Given the description of an element on the screen output the (x, y) to click on. 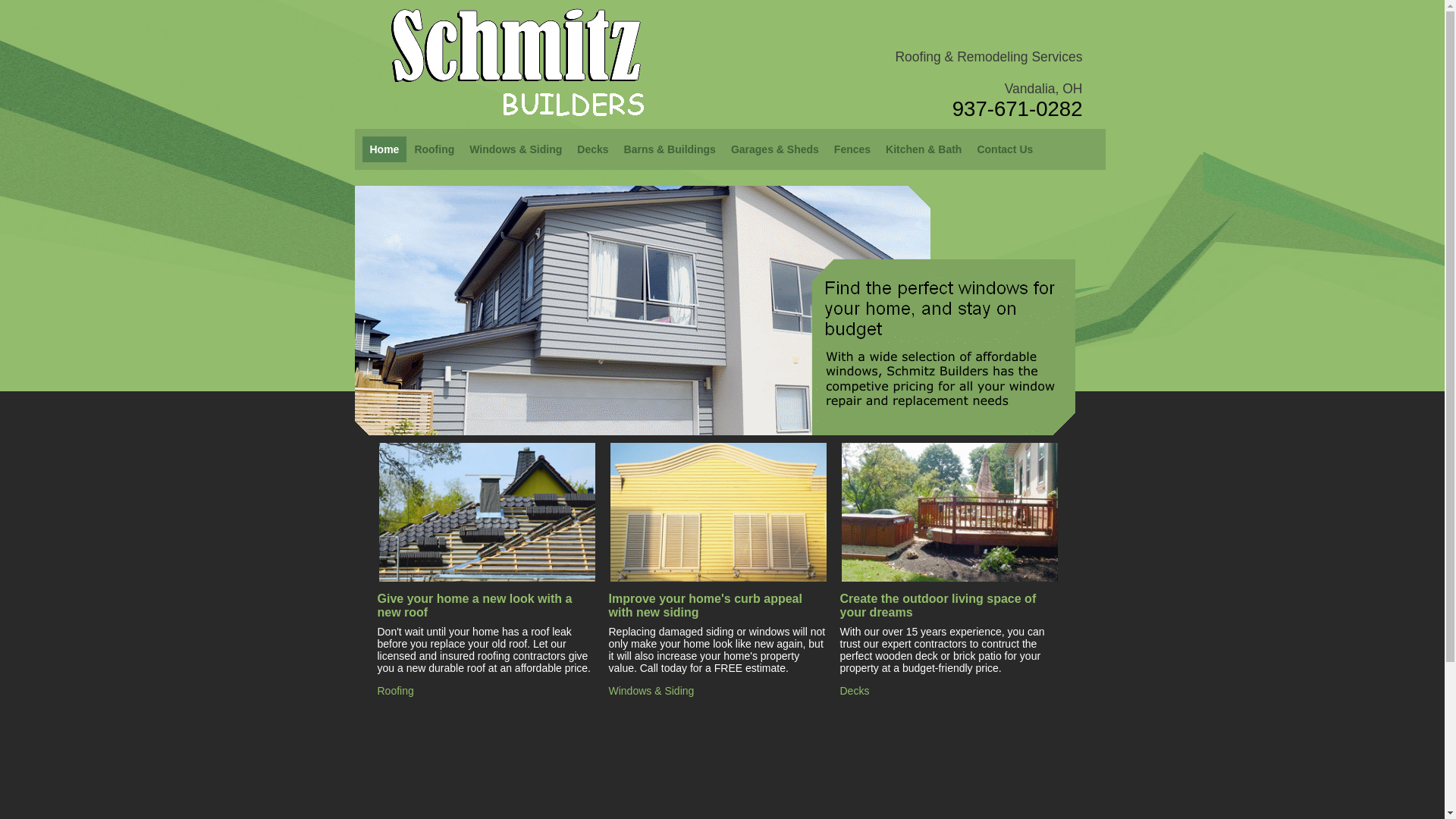
Decks Element type: text (592, 149)
Contact Us Element type: text (1004, 149)
Windows & Siding Element type: text (515, 149)
Garages & Sheds Element type: text (774, 149)
Windows & Siding Element type: text (650, 690)
Fences Element type: text (852, 149)
Roofing Element type: text (395, 690)
Home Element type: text (384, 149)
Barns & Buildings Element type: text (669, 149)
Kitchen & Bath Element type: text (923, 149)
Decks Element type: text (854, 690)
Roofing Element type: text (433, 149)
